Given the description of an element on the screen output the (x, y) to click on. 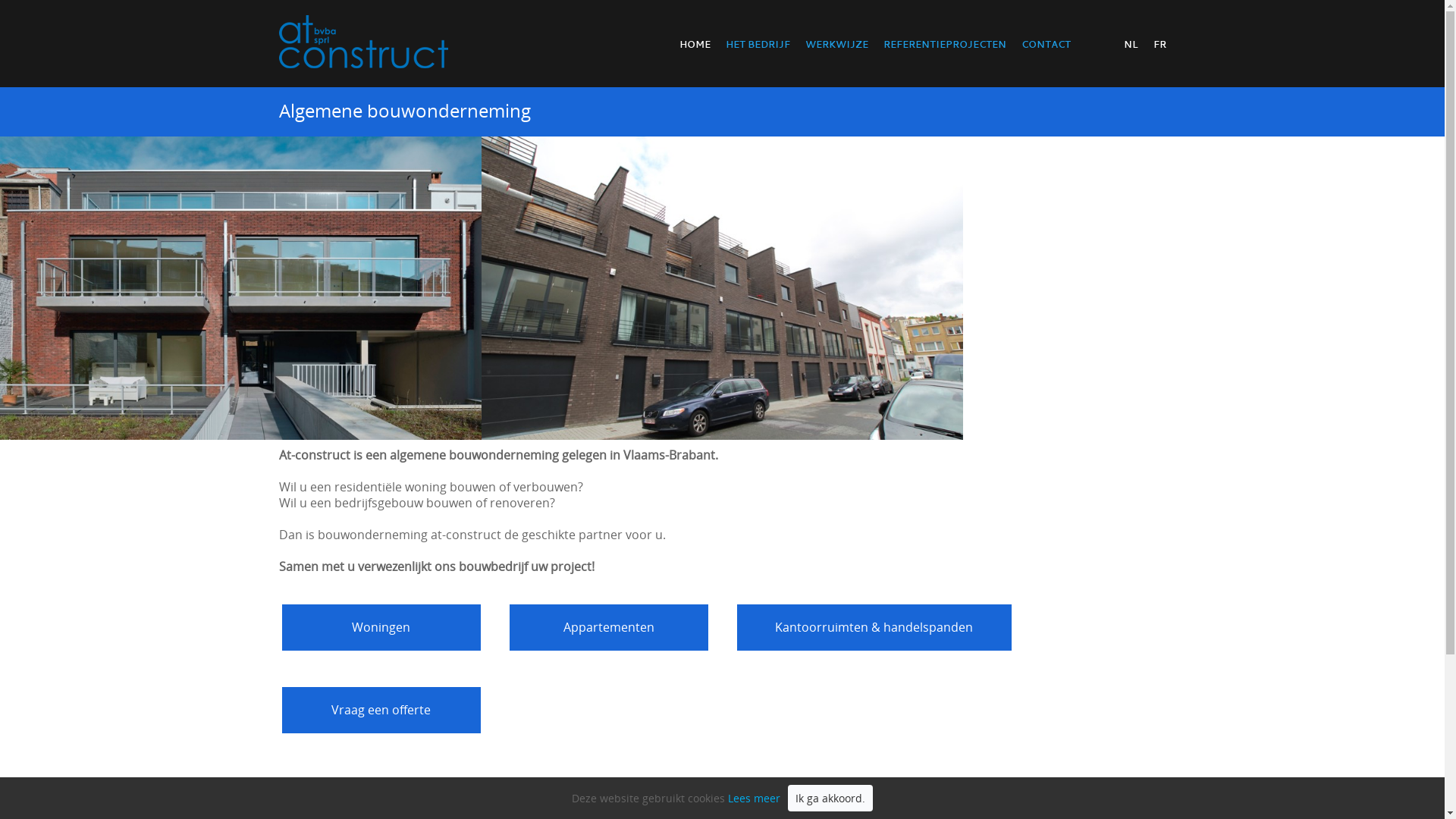
FR Element type: text (1158, 43)
Woningen Element type: text (381, 627)
CONTACT Element type: text (1045, 43)
Kantoorruimten & handelspanden Element type: text (874, 627)
HET BEDRIJF Element type: text (756, 43)
NL Element type: text (1130, 43)
Appartementen Element type: text (608, 627)
Vraag een offerte Element type: text (381, 710)
WERKWIJZE Element type: text (836, 43)
HOME Element type: text (694, 43)
REFERENTIEPROJECTEN Element type: text (943, 43)
Lees meer Element type: text (754, 797)
